Given the description of an element on the screen output the (x, y) to click on. 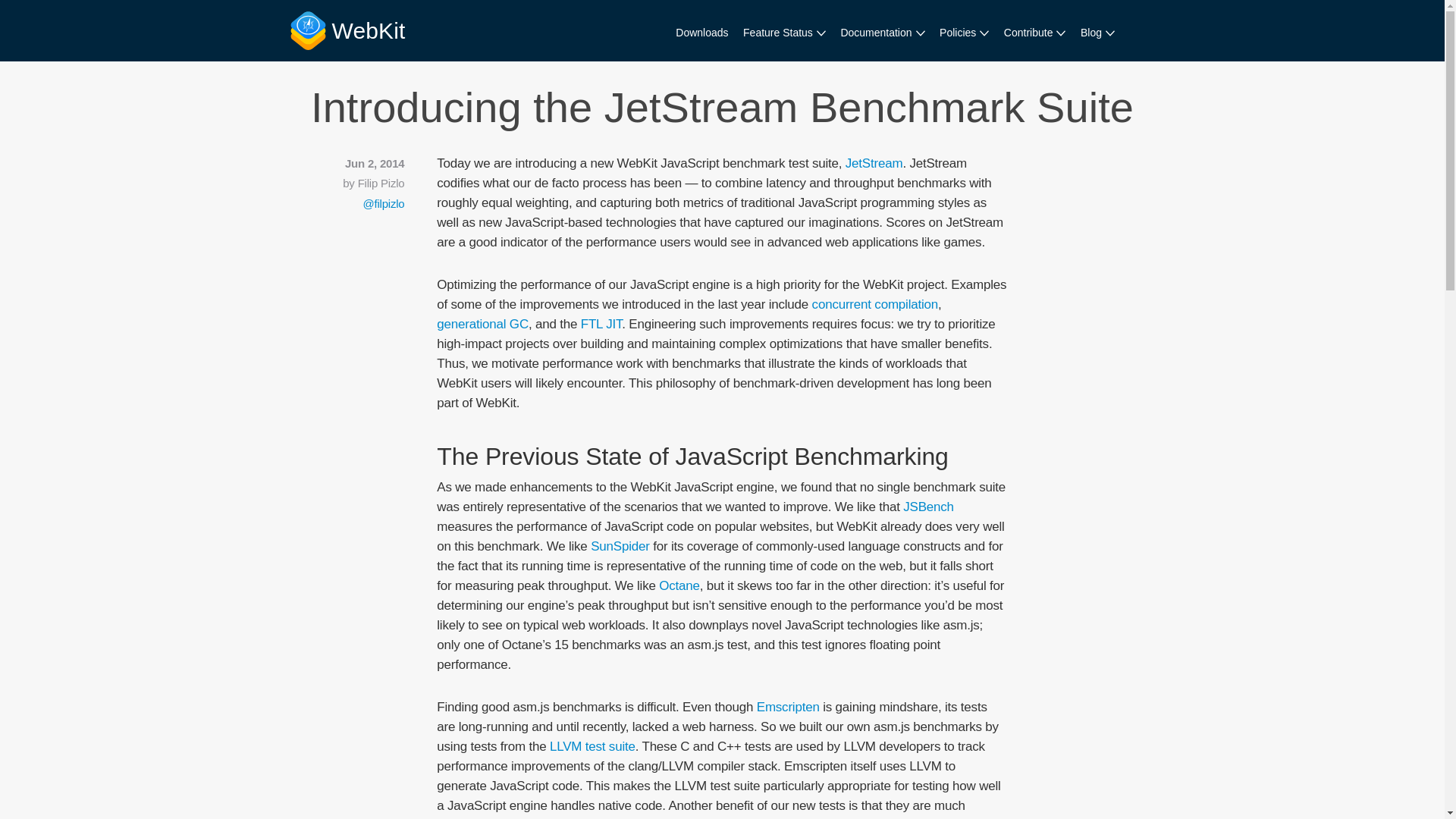
Blog (1097, 33)
Feature Status (783, 33)
FTL JIT (601, 323)
concurrent compilation (874, 304)
generational GC (482, 323)
Downloads (701, 33)
Documentation (882, 33)
Contribute (1034, 33)
Permanent Link: Introducing the JetStream Benchmark Suite (722, 107)
Policies (963, 33)
